Given the description of an element on the screen output the (x, y) to click on. 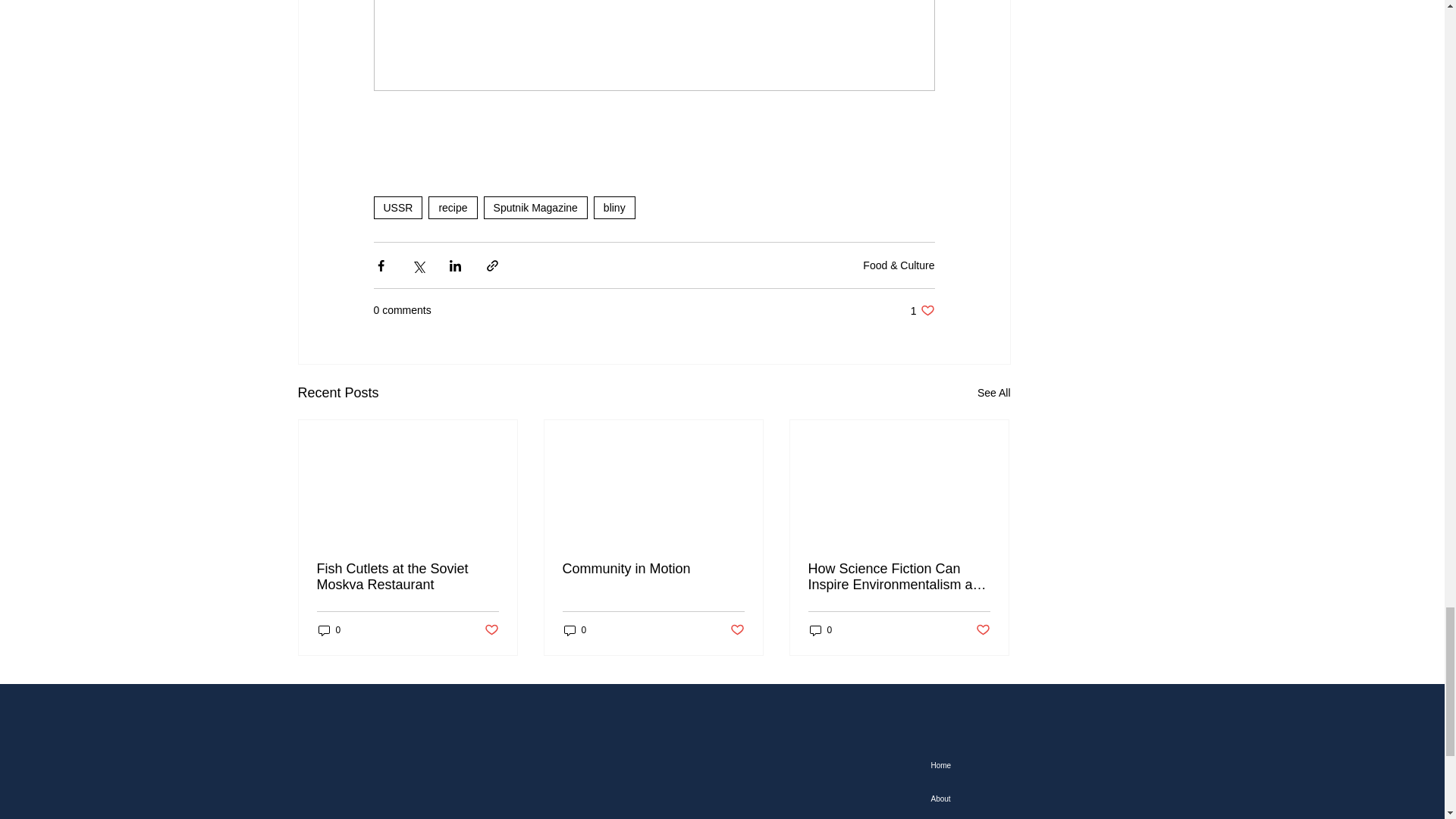
recipe (452, 207)
USSR (397, 207)
Sputnik Magazine (535, 207)
0 (575, 630)
Post not marked as liked (736, 630)
Fish Cutlets at the Soviet Moskva Restaurant (408, 576)
Post not marked as liked (922, 310)
bliny (490, 630)
See All (614, 207)
